Given the description of an element on the screen output the (x, y) to click on. 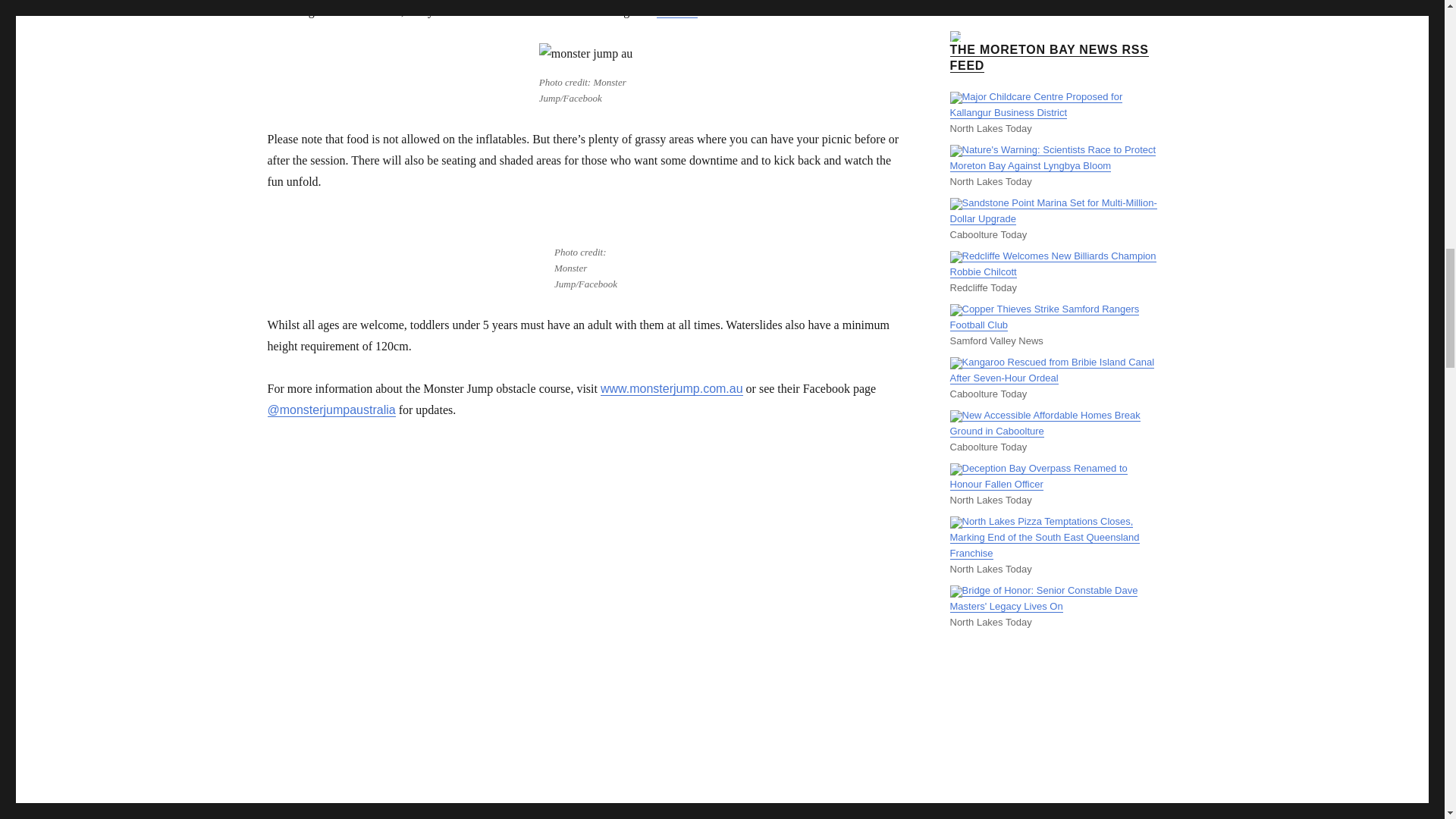
Share (373, 817)
Redcliffe Welcomes New Billiards Champion Robbie Chilcott (1052, 263)
Mastodon (312, 817)
Mastodon (312, 817)
website (676, 10)
THE MORETON BAY NEWS RSS FEED (1048, 57)
Facebook (281, 817)
Facebook (281, 817)
